Given the description of an element on the screen output the (x, y) to click on. 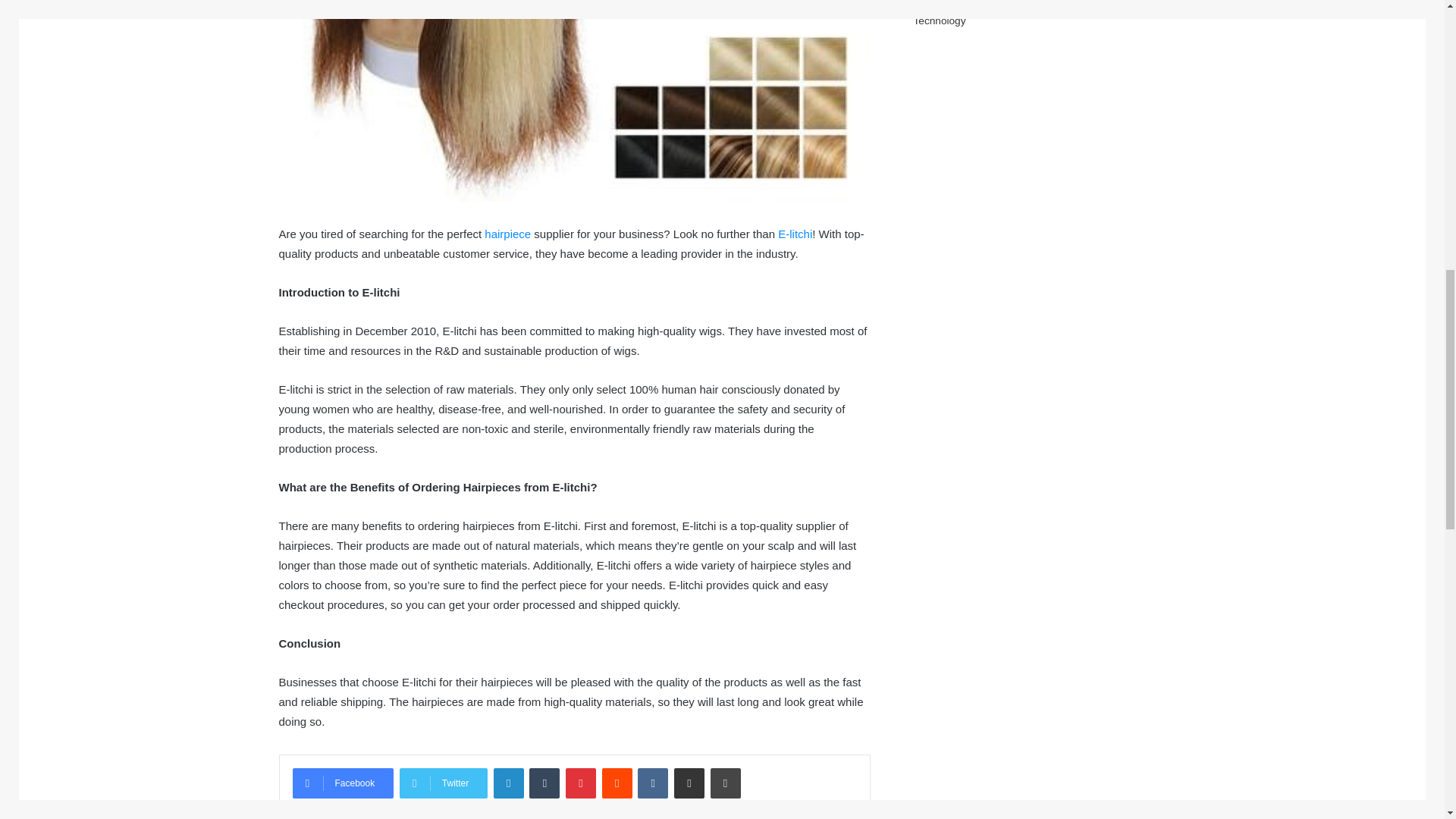
LinkedIn (508, 783)
Pinterest (580, 783)
Twitter (442, 783)
hairpiece (507, 233)
Reddit (616, 783)
Twitter (442, 783)
Tumblr (544, 783)
Facebook (343, 783)
Facebook (343, 783)
Print (725, 783)
Share via Email (689, 783)
E-litchi (794, 233)
Tumblr (544, 783)
VKontakte (652, 783)
VKontakte (652, 783)
